Given the description of an element on the screen output the (x, y) to click on. 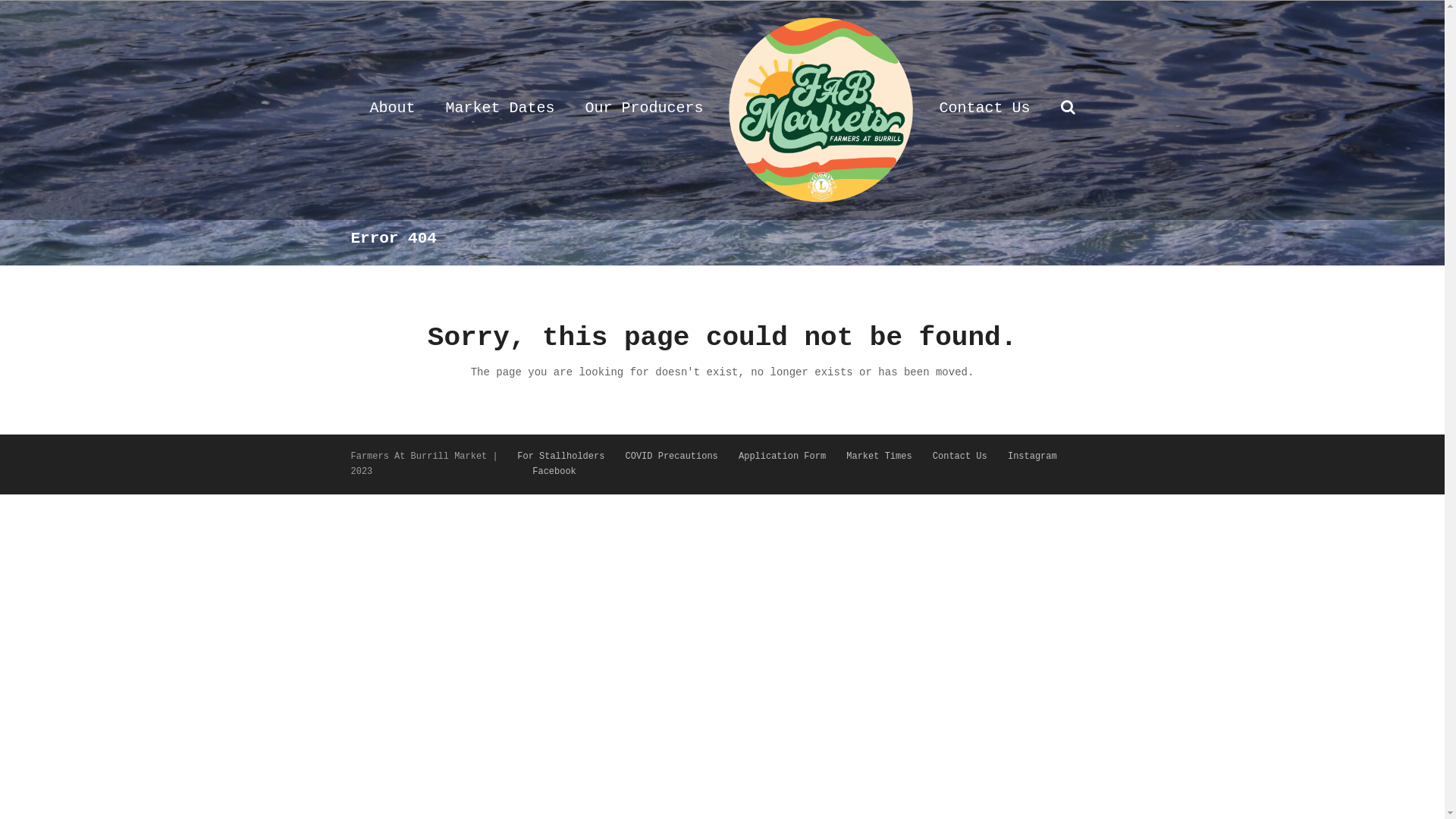
Application Form Element type: text (781, 456)
About Element type: text (391, 109)
Contact Us Element type: text (984, 109)
Market Dates Element type: text (499, 109)
Instagram Element type: text (1032, 456)
Market Times Element type: text (878, 456)
Our Producers Element type: text (643, 109)
Facebook Element type: text (554, 471)
COVID Precautions Element type: text (671, 456)
Contact Us Element type: text (959, 456)
For Stallholders Element type: text (560, 456)
